Given the description of an element on the screen output the (x, y) to click on. 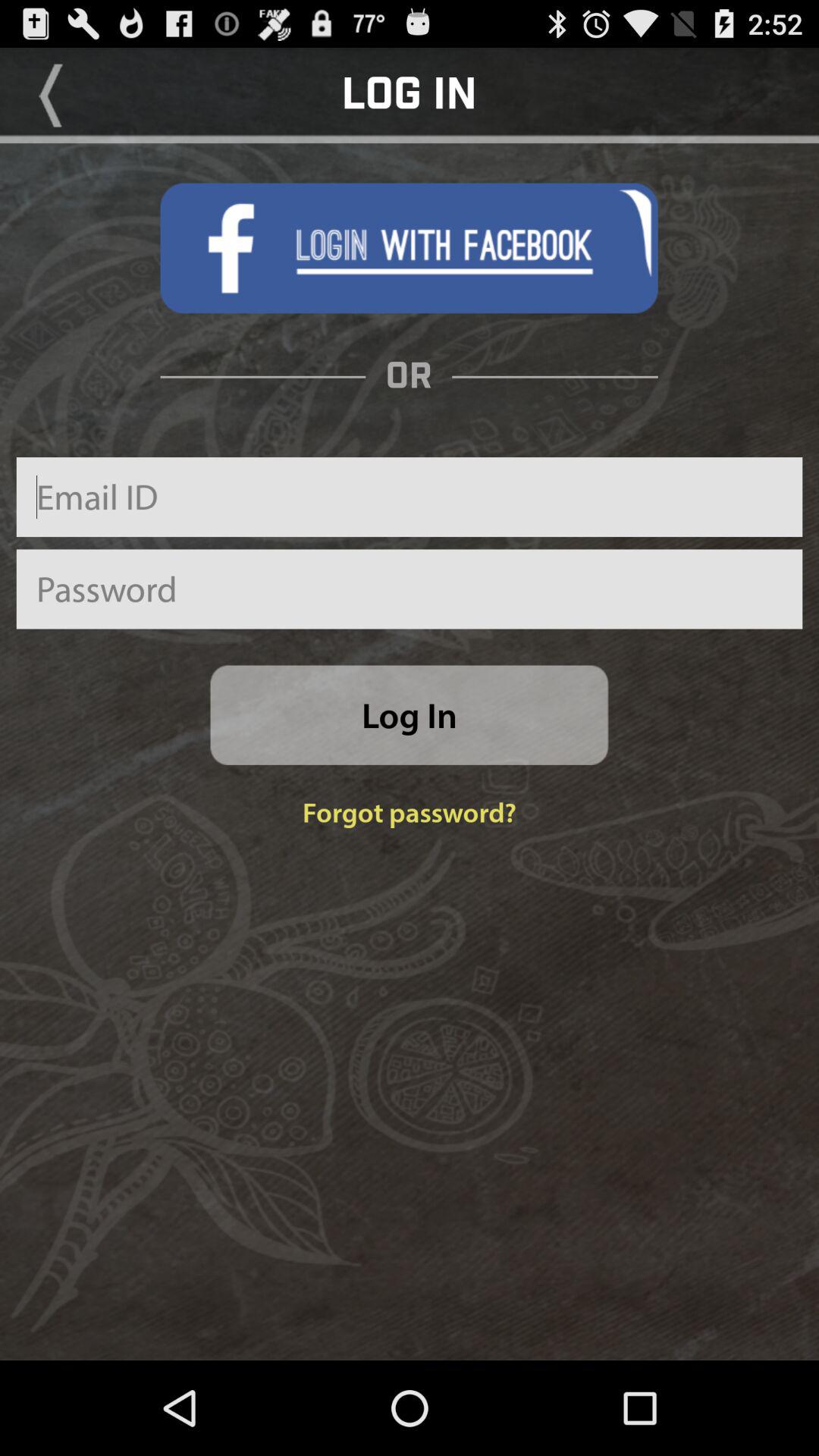
input the facebook (409, 248)
